Given the description of an element on the screen output the (x, y) to click on. 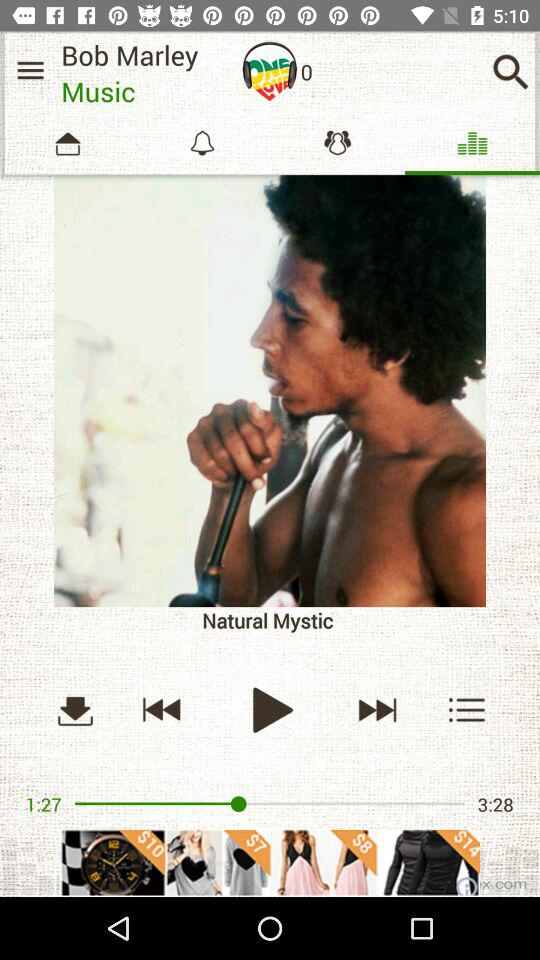
search songs (510, 71)
